Given the description of an element on the screen output the (x, y) to click on. 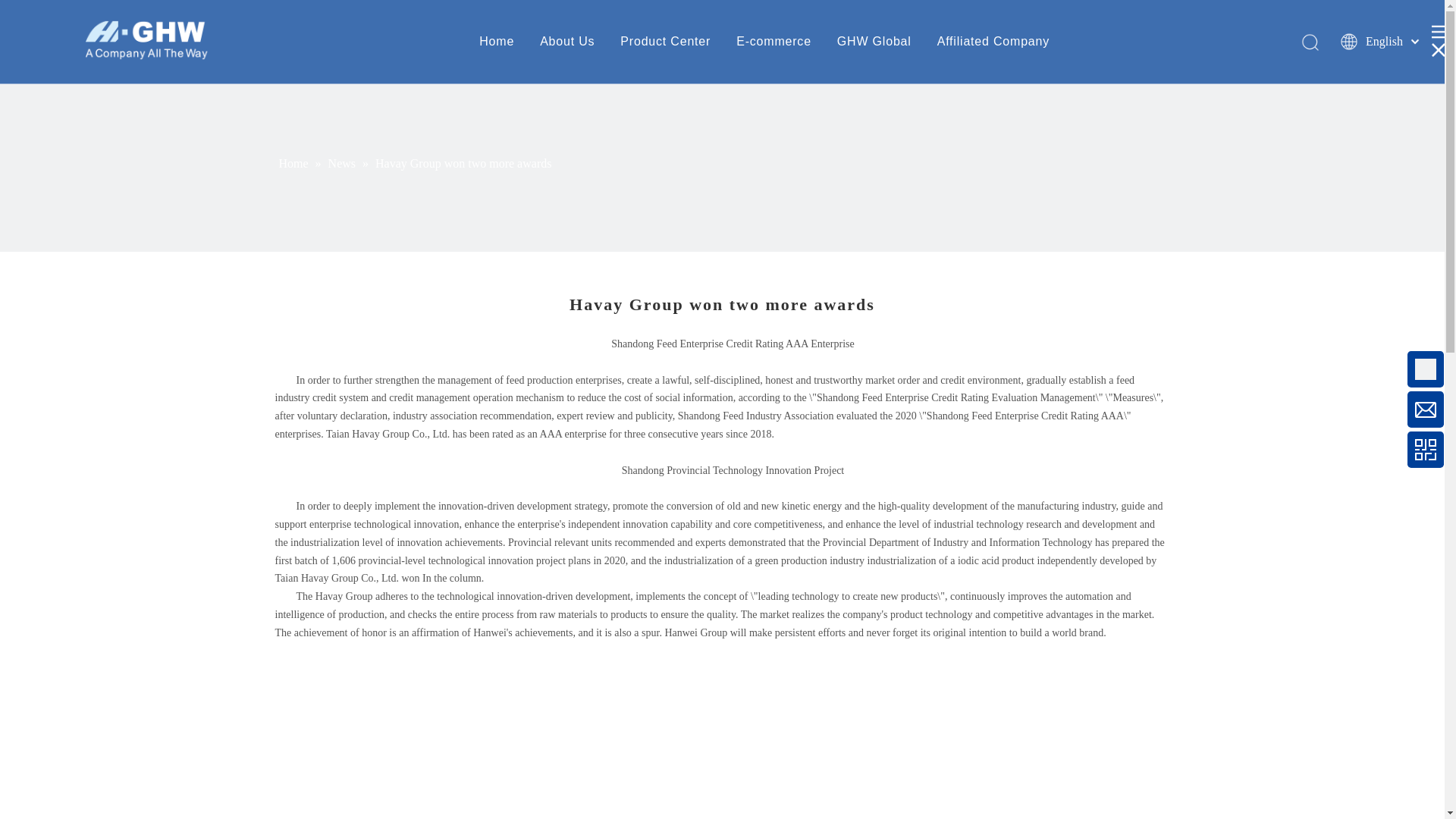
GHW Global (874, 41)
E-commerce (773, 41)
Home (496, 41)
News (343, 163)
Home (295, 163)
Affiliated Company (993, 41)
Product Center (665, 41)
Customer Experience Center: 4009 288 777 (1300, 376)
About Us (567, 41)
